Given the description of an element on the screen output the (x, y) to click on. 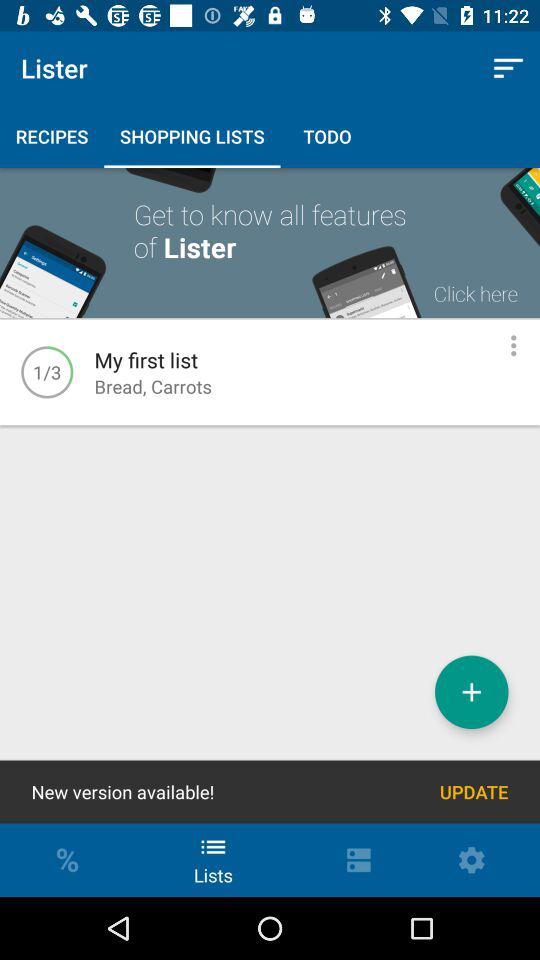
scroll until update item (474, 791)
